Given the description of an element on the screen output the (x, y) to click on. 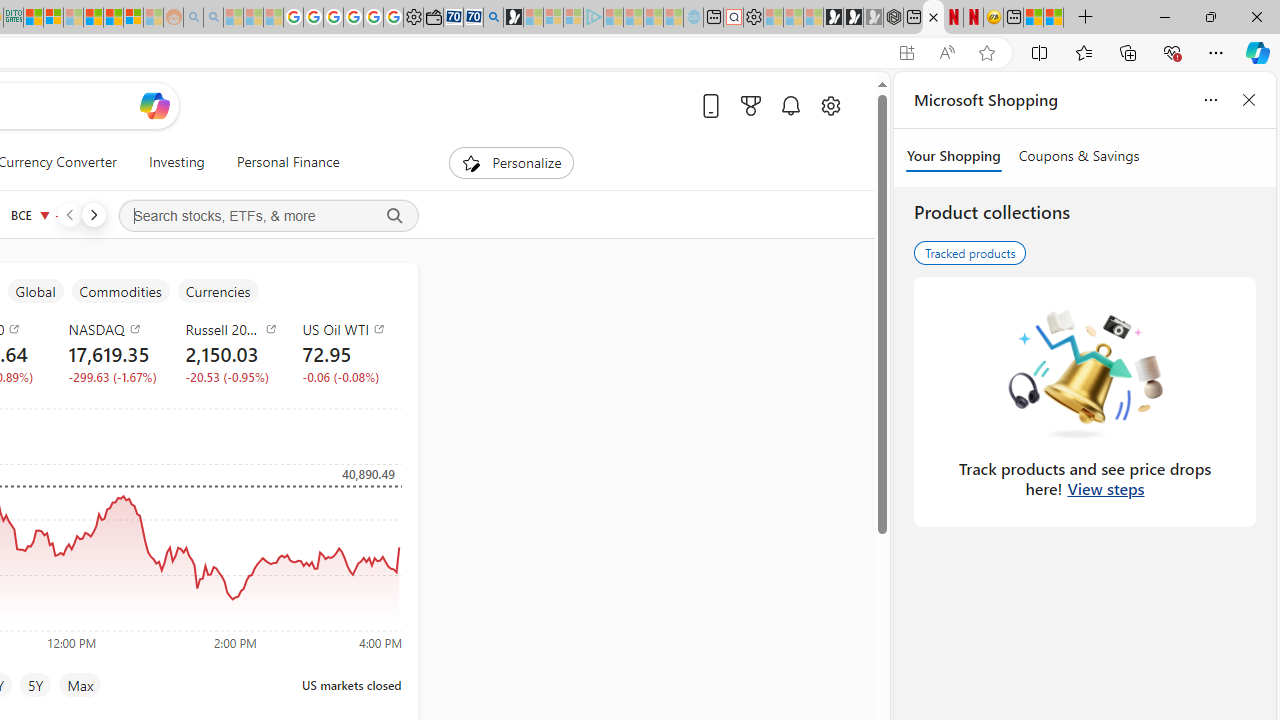
Personal Finance (280, 162)
Cheap Car Rentals - Save70.com (472, 17)
Utah sues federal government - Search - Sleeping (212, 17)
Investing (176, 162)
Investing (176, 162)
5Y (35, 684)
App available. Install Start Money (906, 53)
Expert Portfolios (93, 17)
NASDAQ (114, 328)
